Given the description of an element on the screen output the (x, y) to click on. 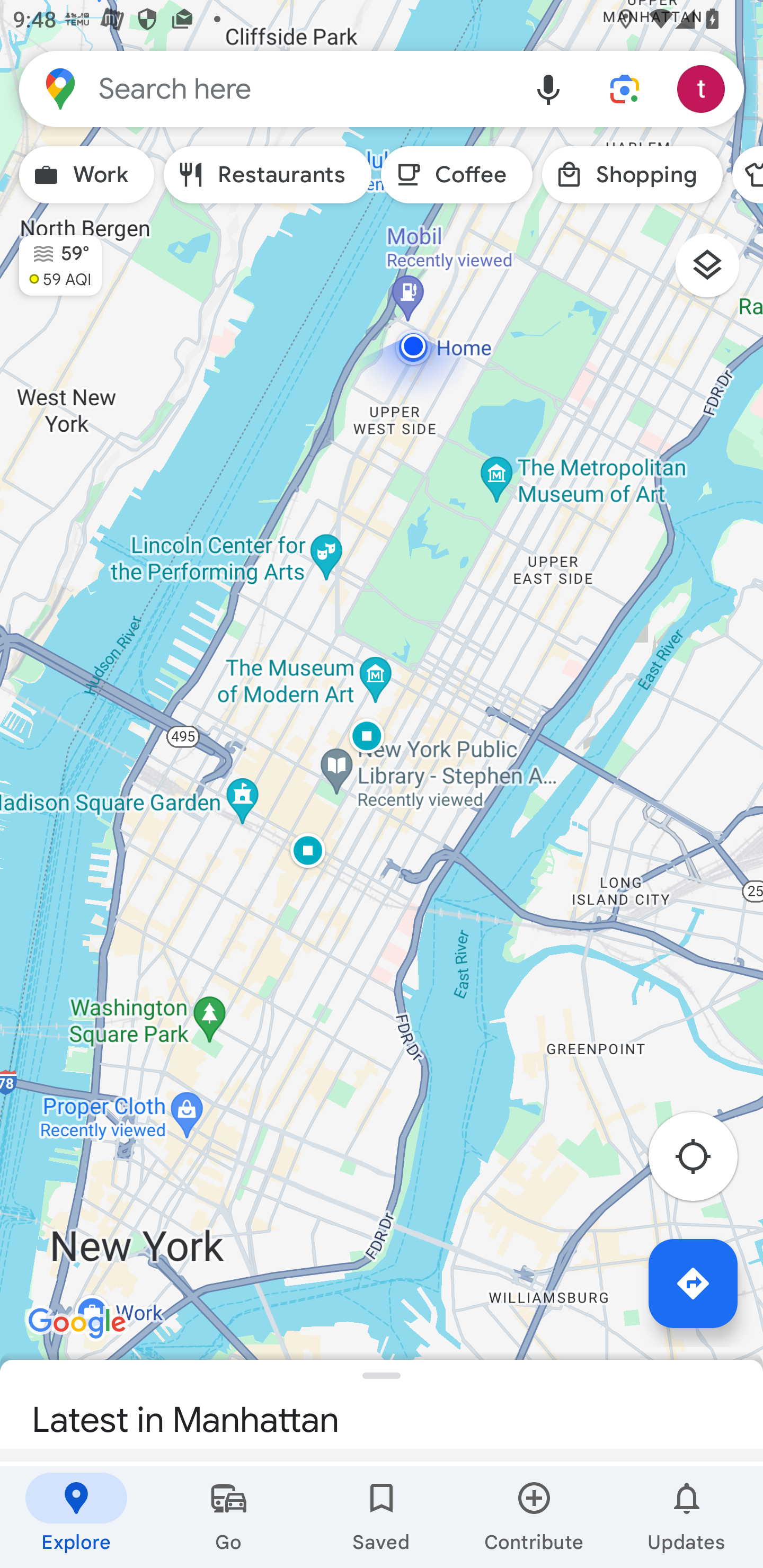
Search here (264, 88)
Voice search (548, 88)
Lens in Maps (624, 88)
Account and settings. (703, 88)
Work (86, 174)
Restaurants Search for Restaurants (267, 174)
Coffee Search for Coffee (456, 174)
Shopping Search for Shopping (631, 174)
Mist, 59°, Moderate, 59 AQI 59° 59 AQI (50, 257)
Layers (716, 271)
Re-center map to your location (702, 1161)
Directions (692, 1283)
Go (228, 1517)
Saved (381, 1517)
Contribute (533, 1517)
Updates (686, 1517)
